Given the description of an element on the screen output the (x, y) to click on. 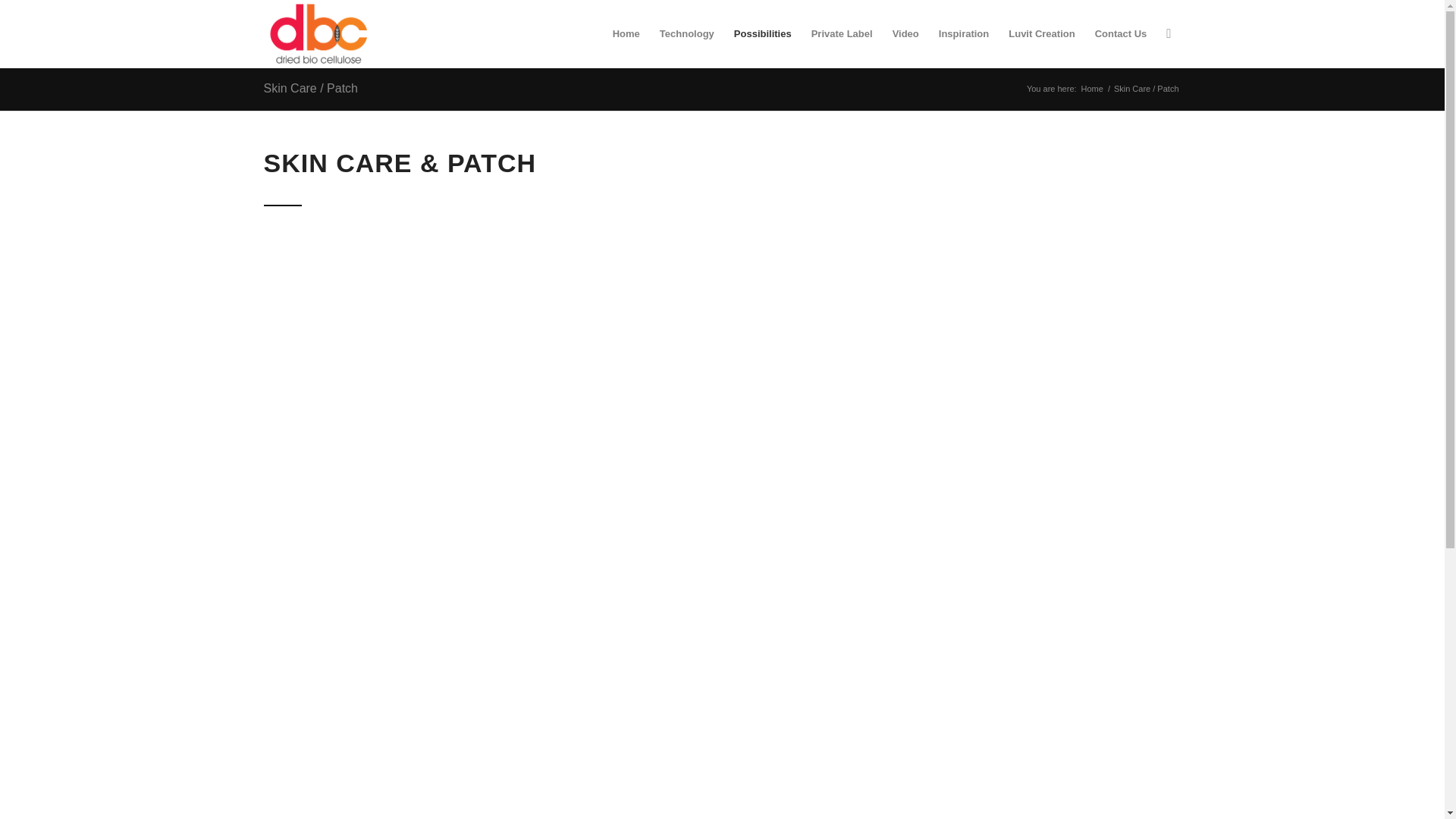
Possibilities (762, 33)
Luvit Creation (1041, 33)
DBC Way (1091, 89)
Technology (686, 33)
Inspiration (963, 33)
Contact Us (1120, 33)
Private Label (842, 33)
Home (1091, 89)
